Given the description of an element on the screen output the (x, y) to click on. 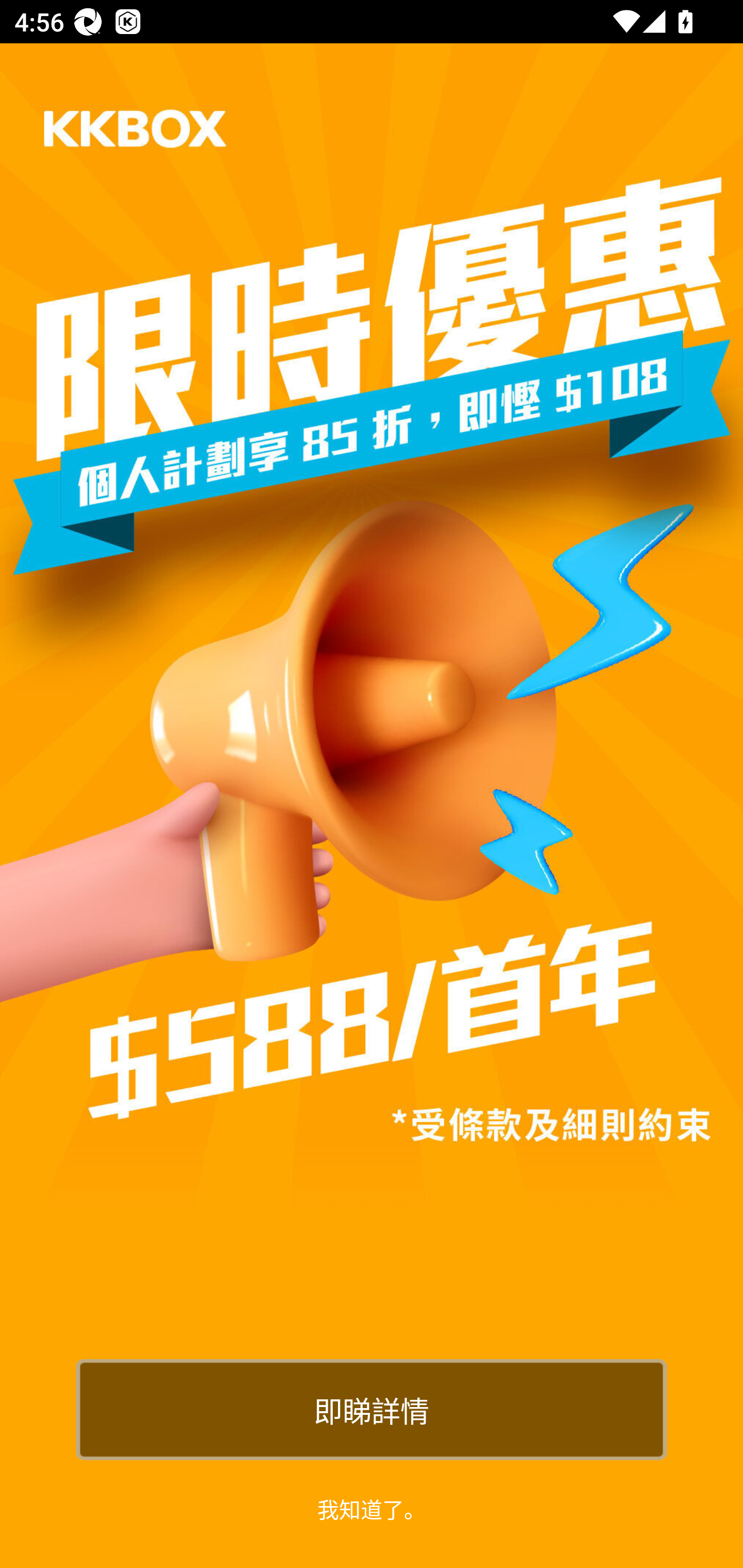
即睇詳情 (371, 1409)
我知道了。 (371, 1508)
